Given the description of an element on the screen output the (x, y) to click on. 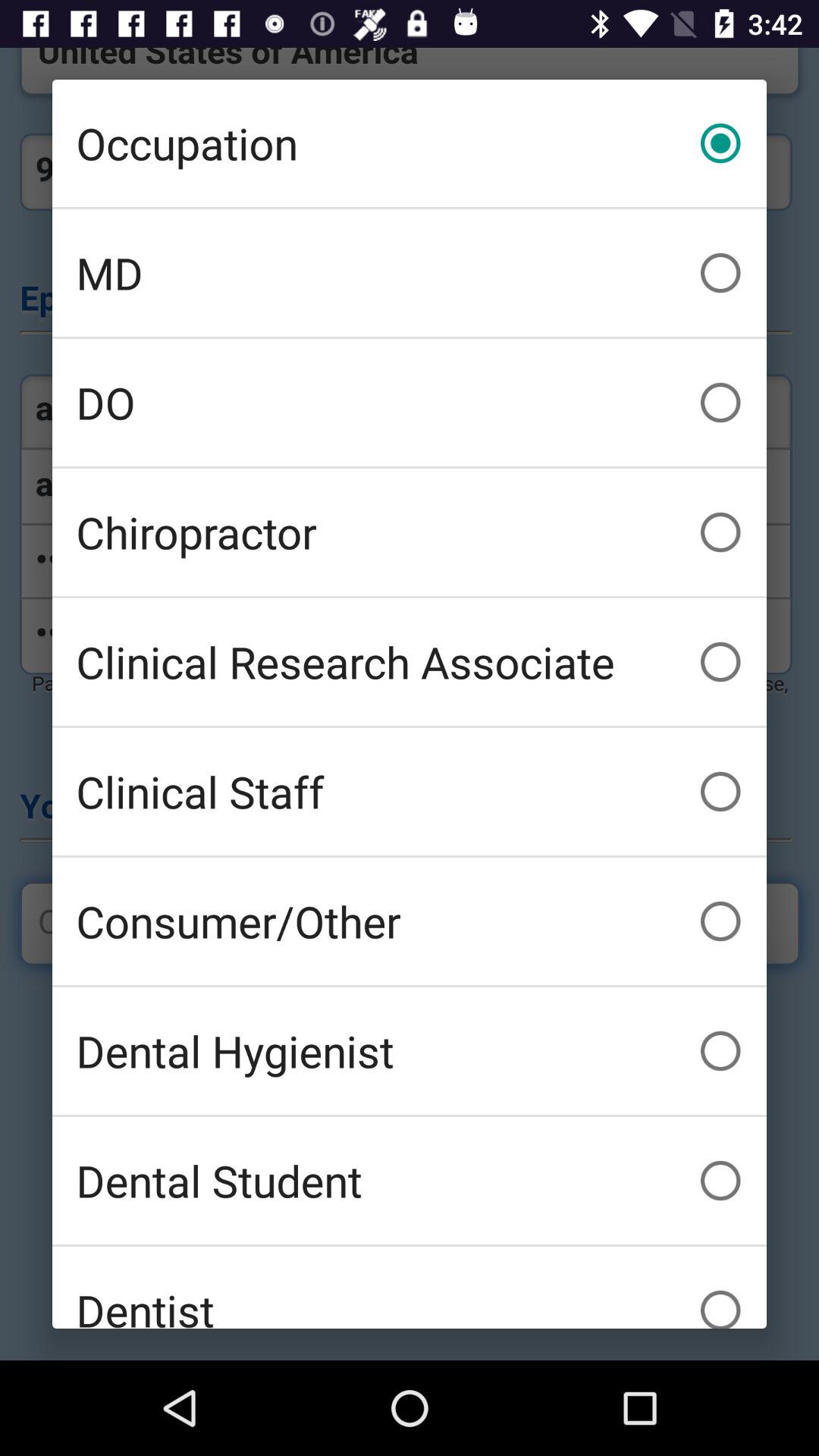
press icon above dental student (409, 1050)
